Given the description of an element on the screen output the (x, y) to click on. 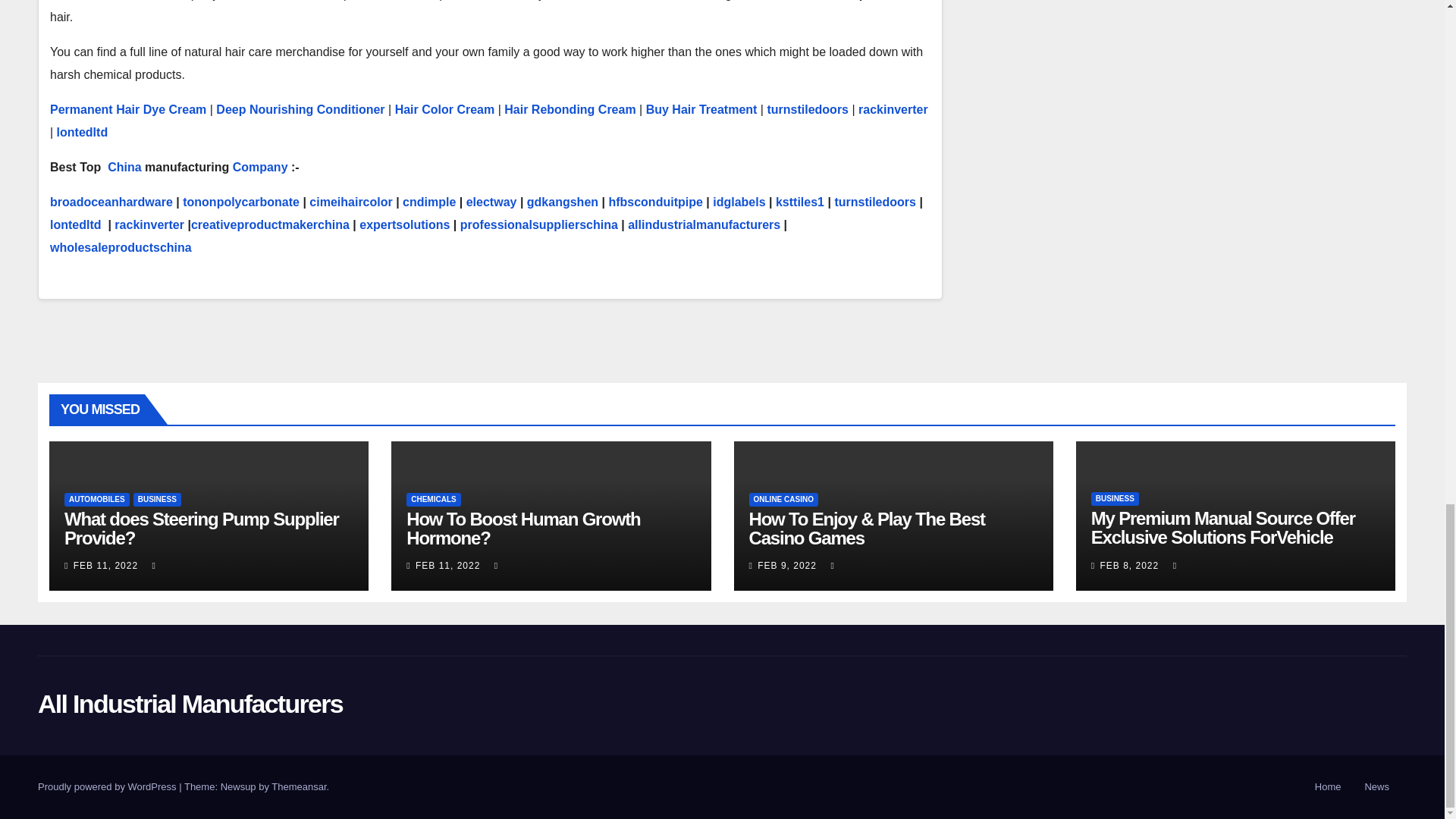
turnstiledoors (807, 109)
Hair Rebonding Cream (568, 109)
cndimple (429, 201)
Buy Hair Treatment (701, 109)
Home (1328, 786)
rackinverter (893, 109)
Company (260, 166)
electway (490, 201)
China (124, 166)
Permalink to: What does Steering Pump Supplier Provide? (201, 527)
Permalink to: How To Boost Human Growth Hormone? (523, 527)
broadoceanhardware (111, 201)
Hair Color Cream (444, 109)
cimeihaircolor (349, 201)
